Given the description of an element on the screen output the (x, y) to click on. 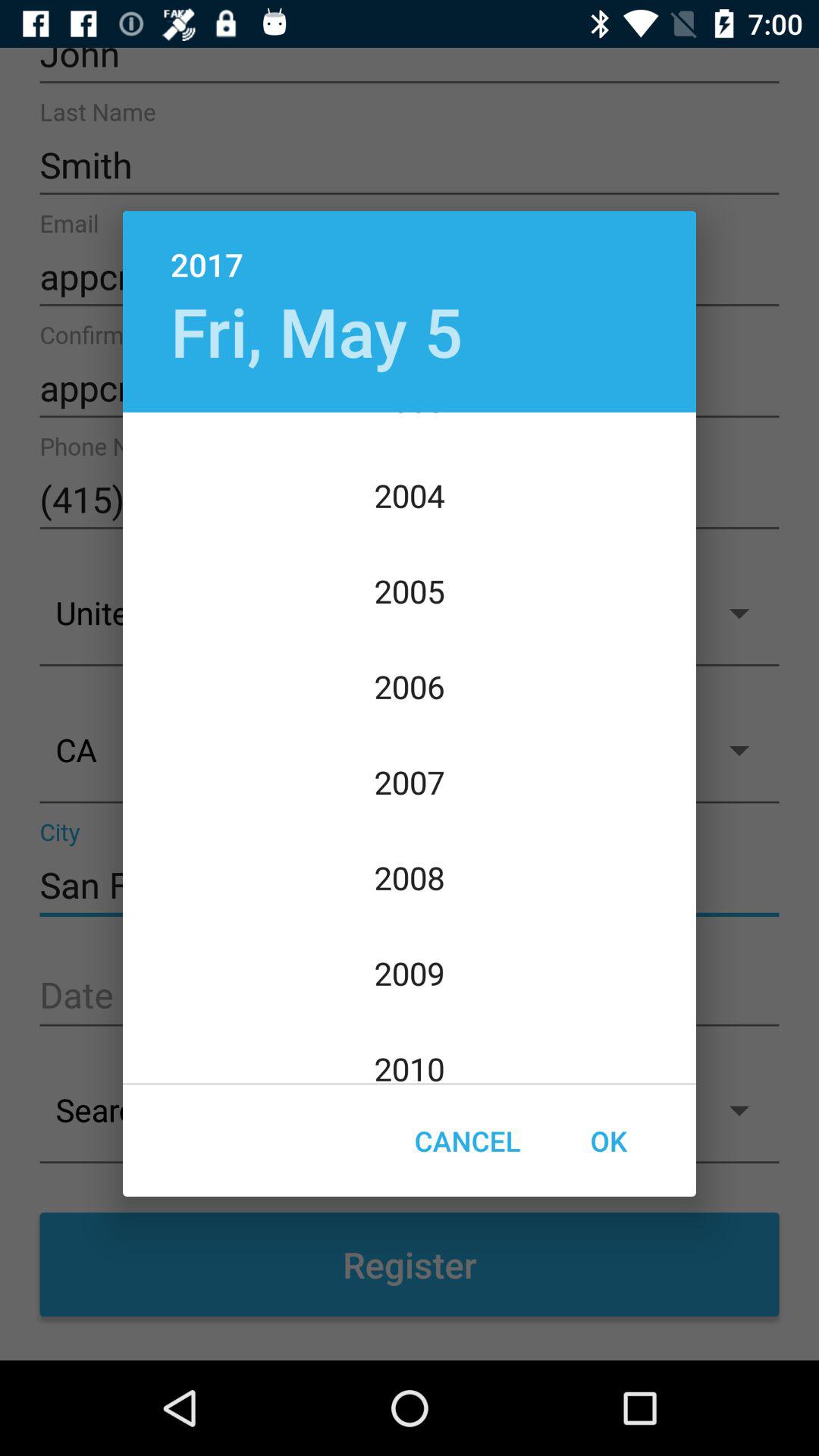
select icon below 2010 (467, 1140)
